Given the description of an element on the screen output the (x, y) to click on. 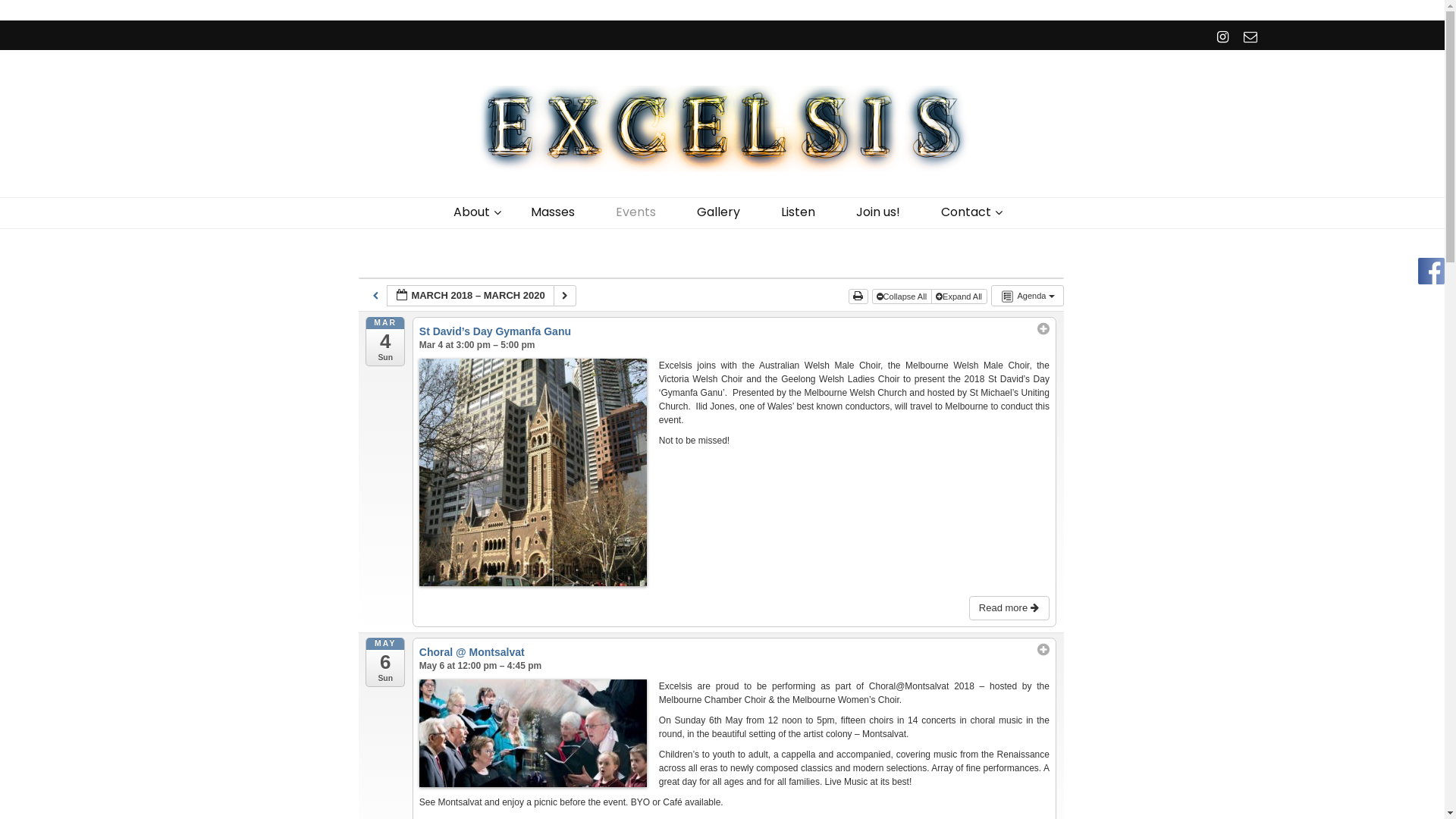
Join us! Element type: text (878, 212)
Read more Element type: text (1009, 608)
Excelsis Element type: text (269, 195)
Masses Element type: text (552, 212)
MAY
6
Sun Element type: text (384, 662)
Contact Element type: text (966, 212)
Expand All Element type: text (959, 296)
Events Element type: text (635, 212)
About Element type: text (471, 212)
Listen Element type: text (798, 212)
MAR
4
Sun Element type: text (384, 341)
Collapse All Element type: text (901, 296)
Gallery Element type: text (718, 212)
Agenda Element type: text (1027, 296)
